Given the description of an element on the screen output the (x, y) to click on. 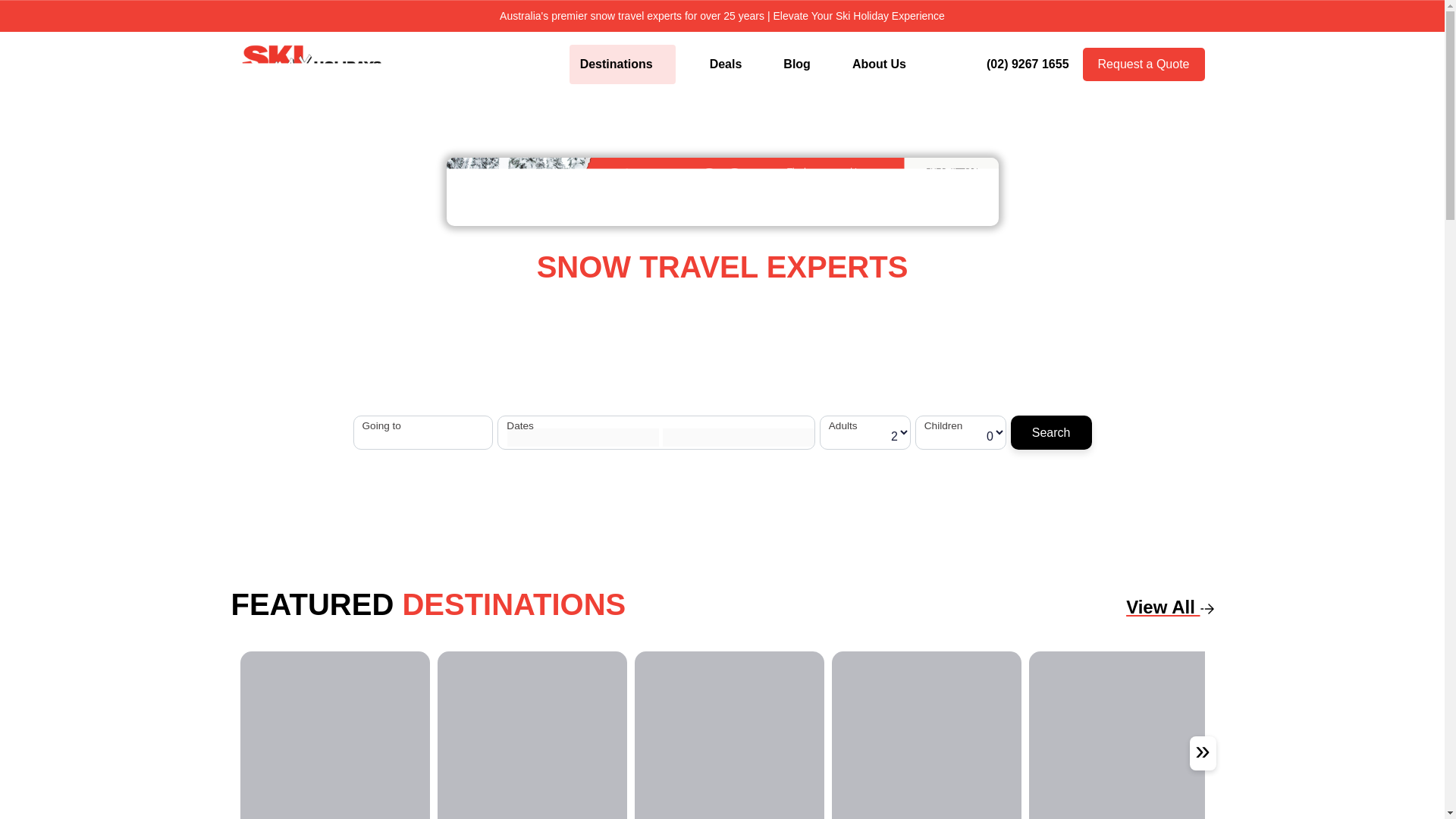
Destinations (622, 64)
